Given the description of an element on the screen output the (x, y) to click on. 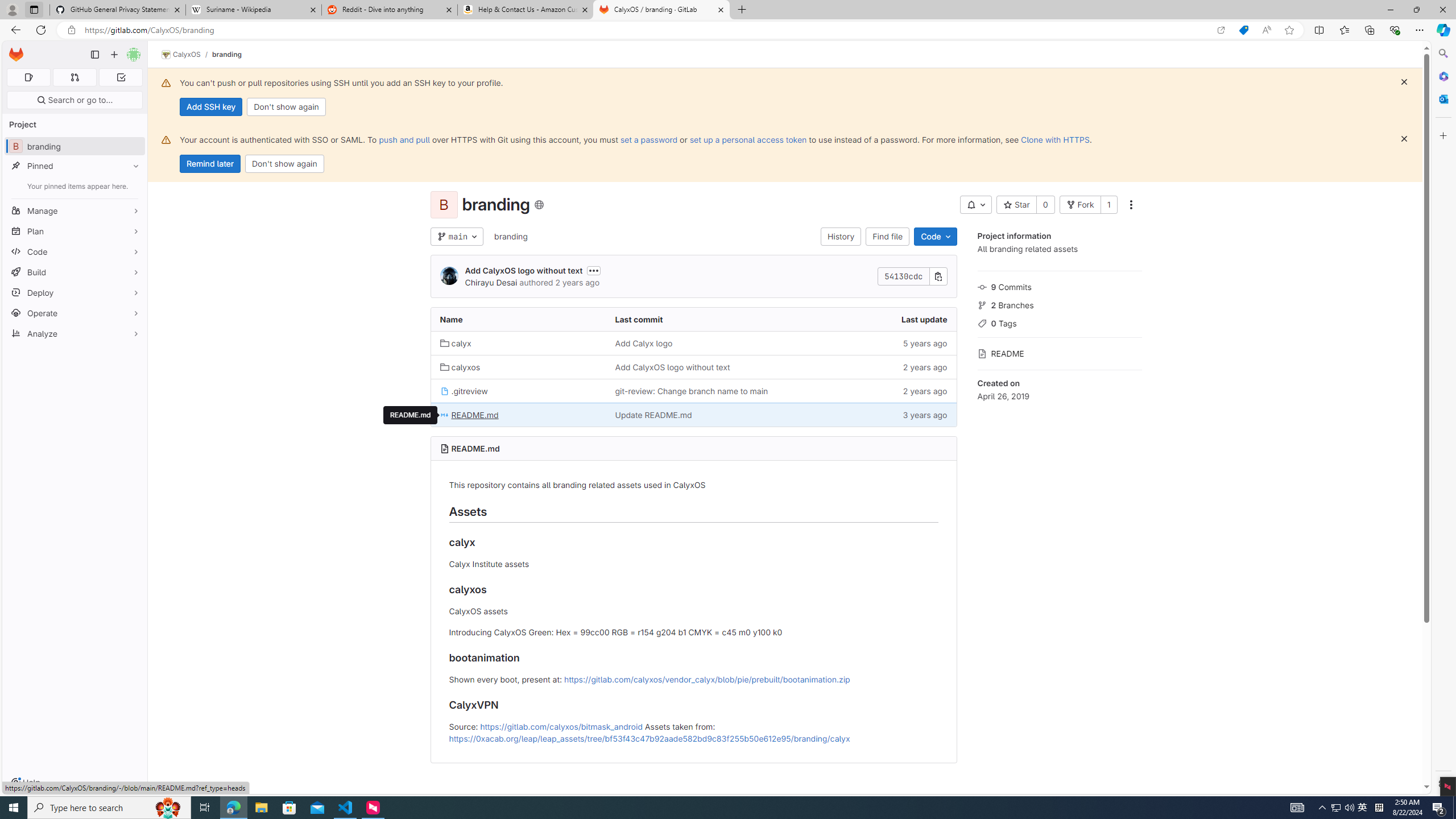
Class: s16 position-relative file-icon (444, 414)
Assigned issues 0 (28, 76)
git-review: Change branch name to main (691, 390)
Build (74, 271)
